Given the description of an element on the screen output the (x, y) to click on. 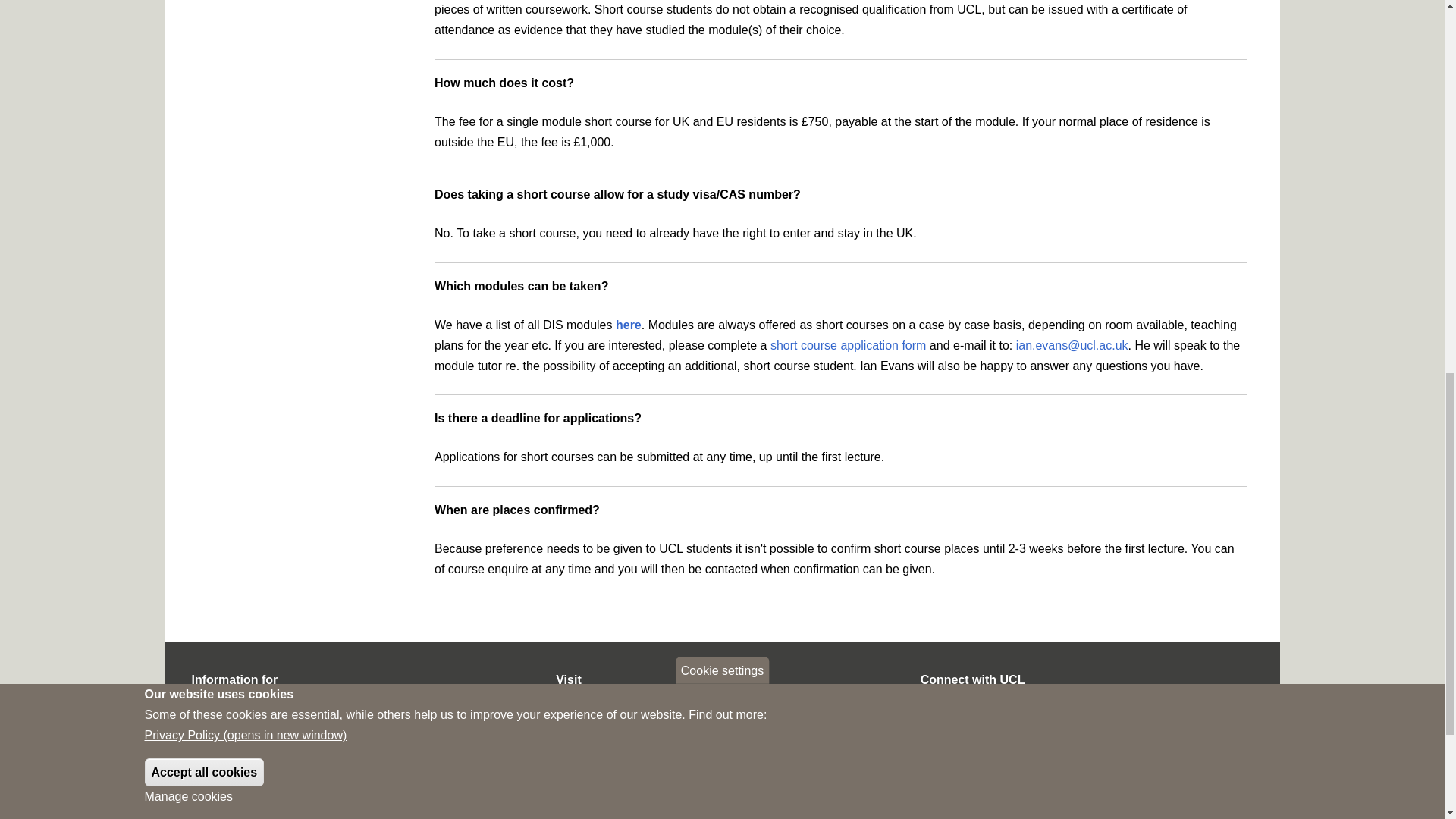
Alumni (207, 752)
here (628, 324)
Media Relations (957, 728)
Library, museums and collections (634, 728)
Tours and visits (592, 801)
short course application form (848, 345)
Maps (568, 705)
Staff (201, 728)
Donors (207, 801)
Current students (229, 705)
UCL East (577, 776)
Bloomsbury Theatre (603, 752)
Jobs (931, 705)
Business (212, 776)
